Given the description of an element on the screen output the (x, y) to click on. 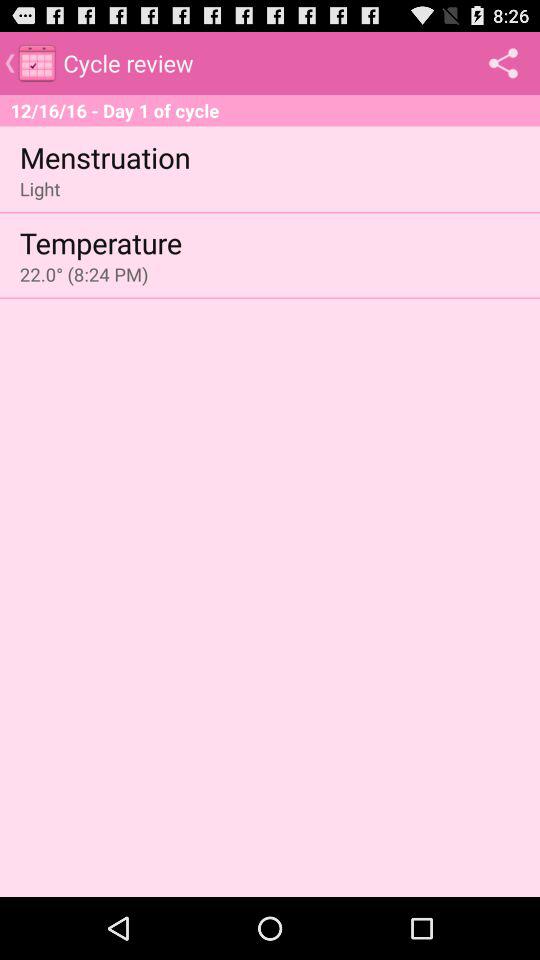
select menstruation app (104, 156)
